Given the description of an element on the screen output the (x, y) to click on. 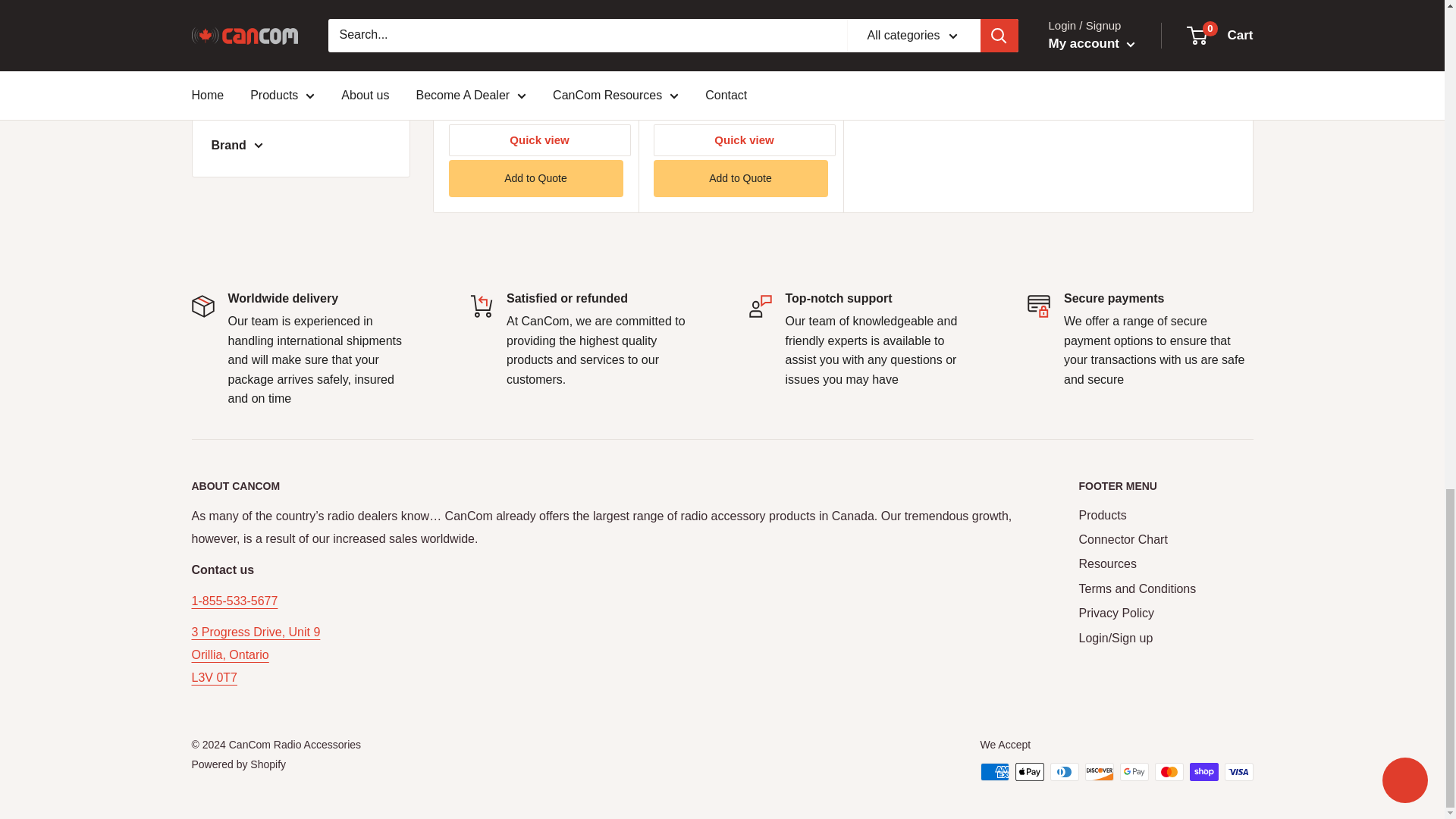
tel:18555335677 (234, 600)
